Given the description of an element on the screen output the (x, y) to click on. 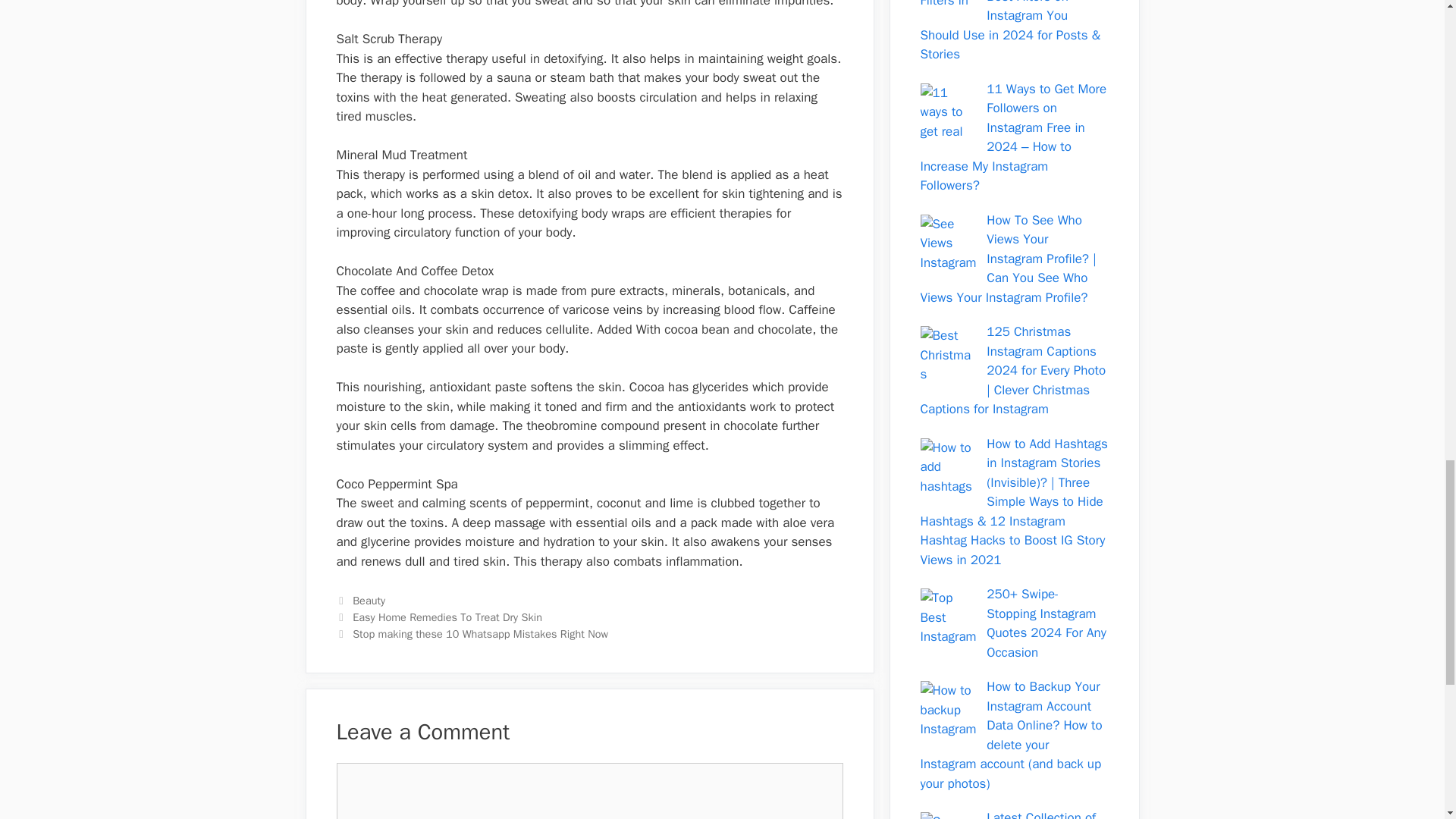
Beauty (368, 600)
Stop making these 10 Whatsapp Mistakes Right Now (480, 633)
Easy Home Remedies To Treat Dry Skin (446, 617)
